Given the description of an element on the screen output the (x, y) to click on. 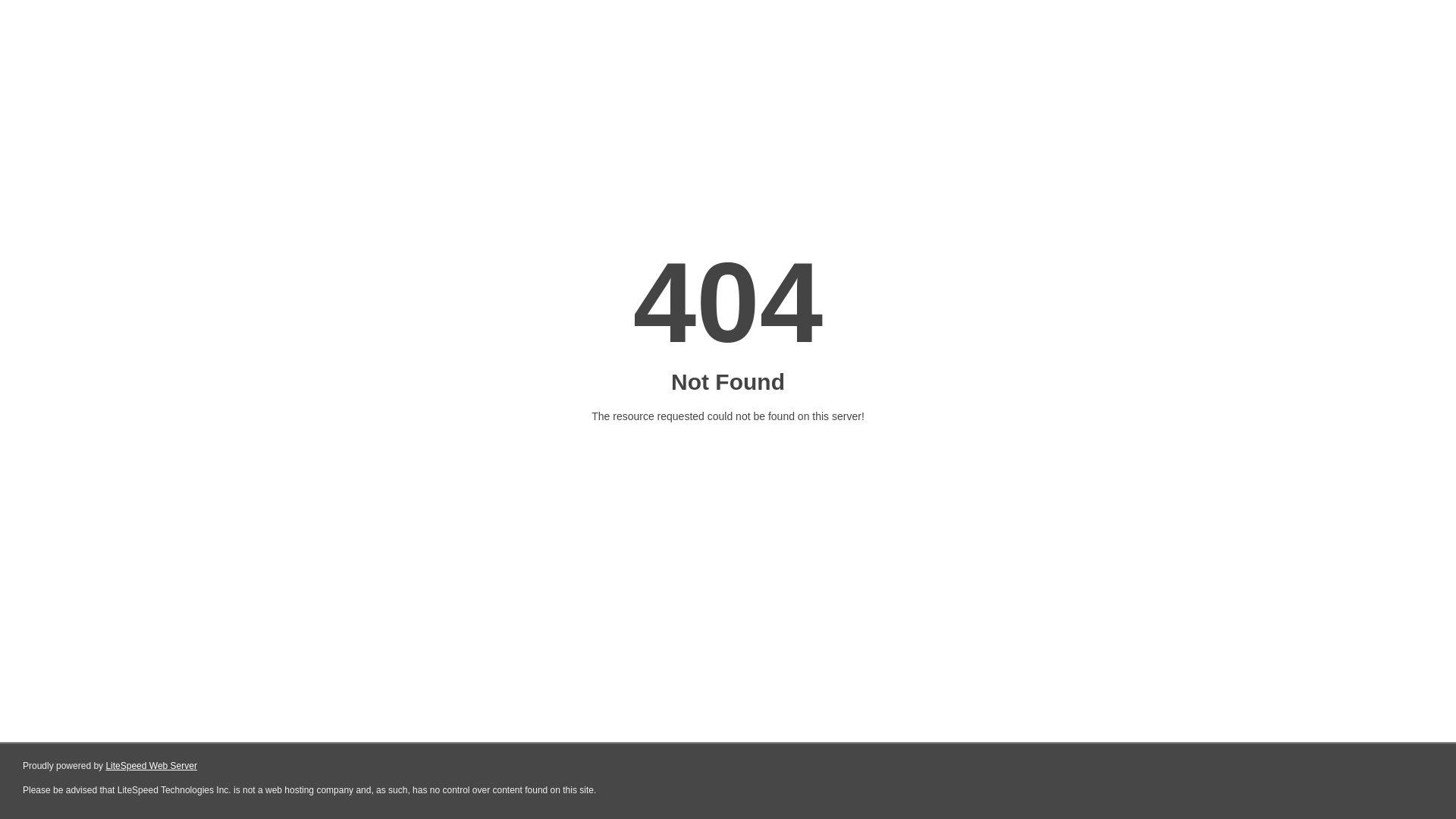
LiteSpeed Web Server Element type: text (151, 765)
